Given the description of an element on the screen output the (x, y) to click on. 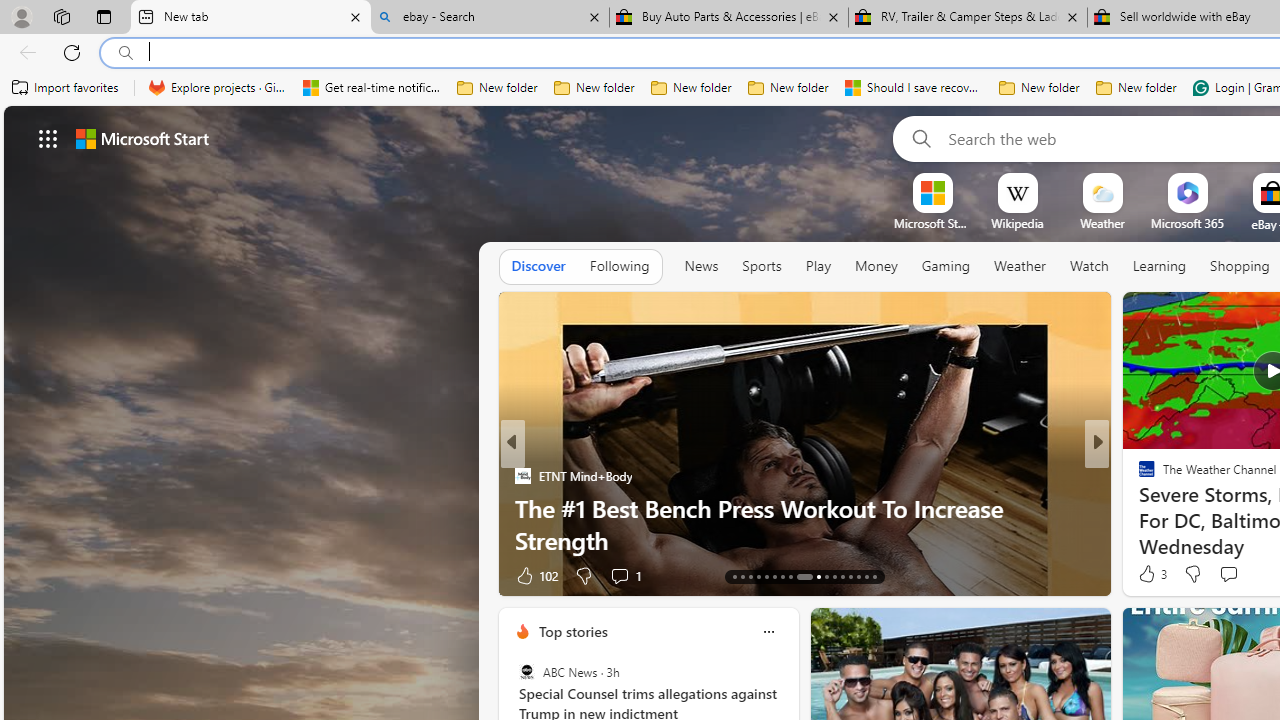
AutomationID: tab-25 (842, 576)
AutomationID: tab-24 (833, 576)
3 Like (1151, 574)
View comments 8 Comment (1234, 574)
102 Like (535, 574)
More Options (1219, 179)
New folder (1136, 88)
AutomationID: tab-19 (782, 576)
AutomationID: tab-15 (750, 576)
AutomationID: tab-29 (874, 576)
ETNT Mind+Body (522, 475)
